Given the description of an element on the screen output the (x, y) to click on. 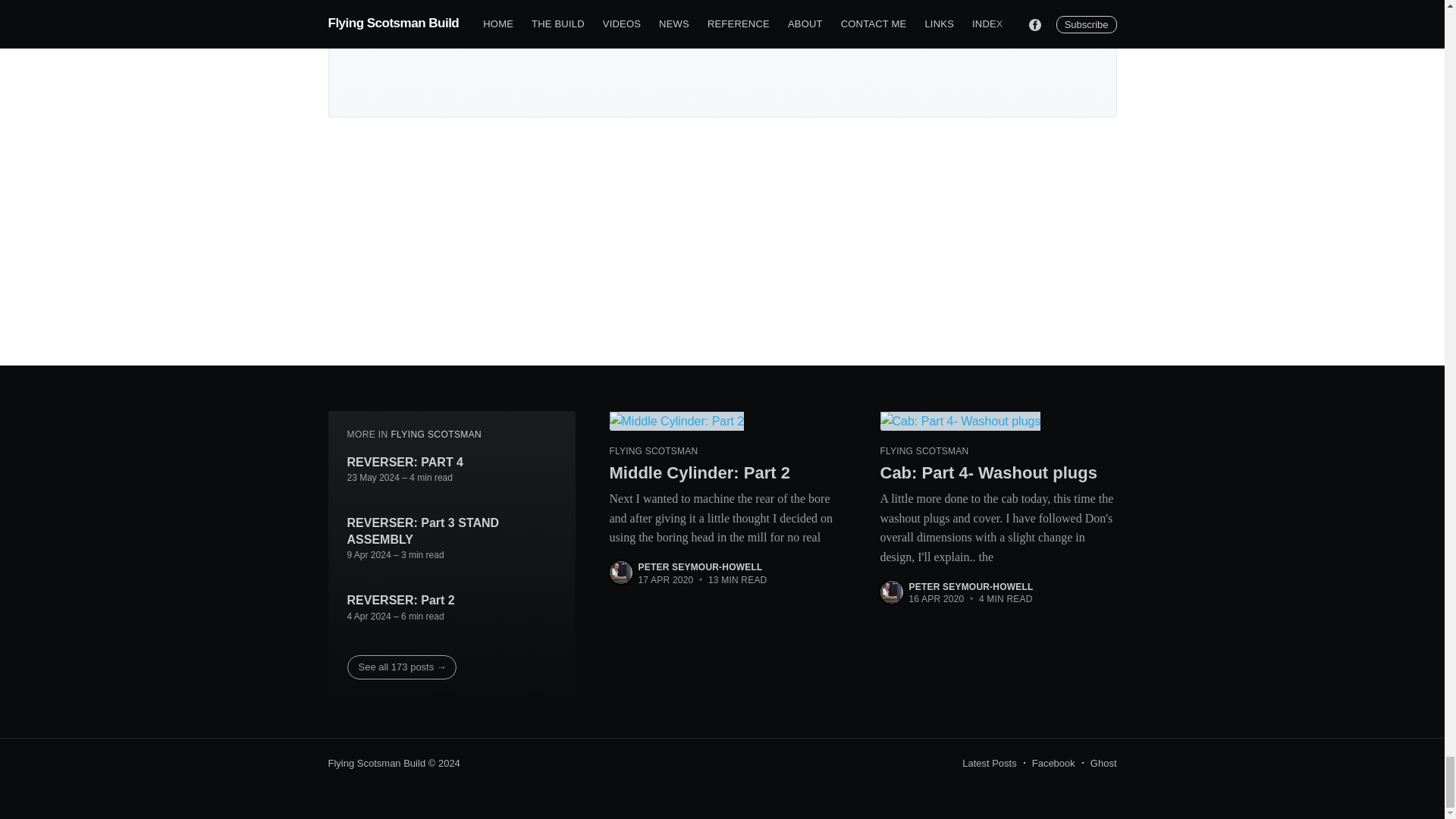
REVERSER: PART 4 (405, 462)
REVERSER: Part 3 STAND ASSEMBLY (451, 531)
Latest Posts (989, 763)
PETER SEYMOUR-HOWELL (970, 586)
FLYING SCOTSMAN (435, 434)
REVERSER: Part 2 (400, 600)
Ghost (1103, 763)
PETER SEYMOUR-HOWELL (700, 566)
